Given the description of an element on the screen output the (x, y) to click on. 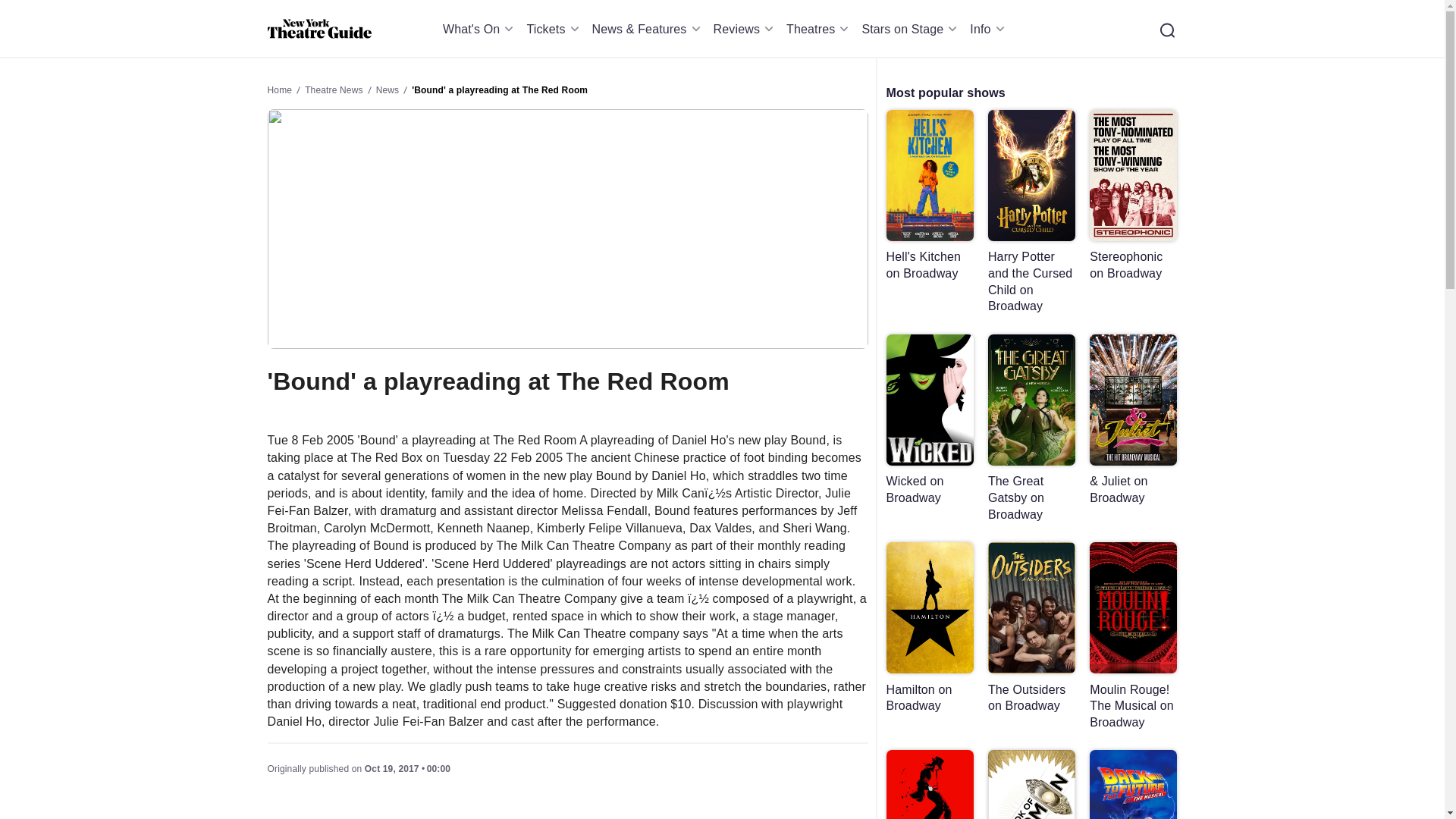
Theatres (819, 28)
Reviews (745, 28)
What's On (480, 28)
Tickets (554, 28)
Read more about Back to the Future on Broadway (1132, 784)
Read more about MJ The Musical on Broadway (928, 784)
Home (318, 28)
Read more about The Book of Mormon on Broadway (1031, 784)
